Given the description of an element on the screen output the (x, y) to click on. 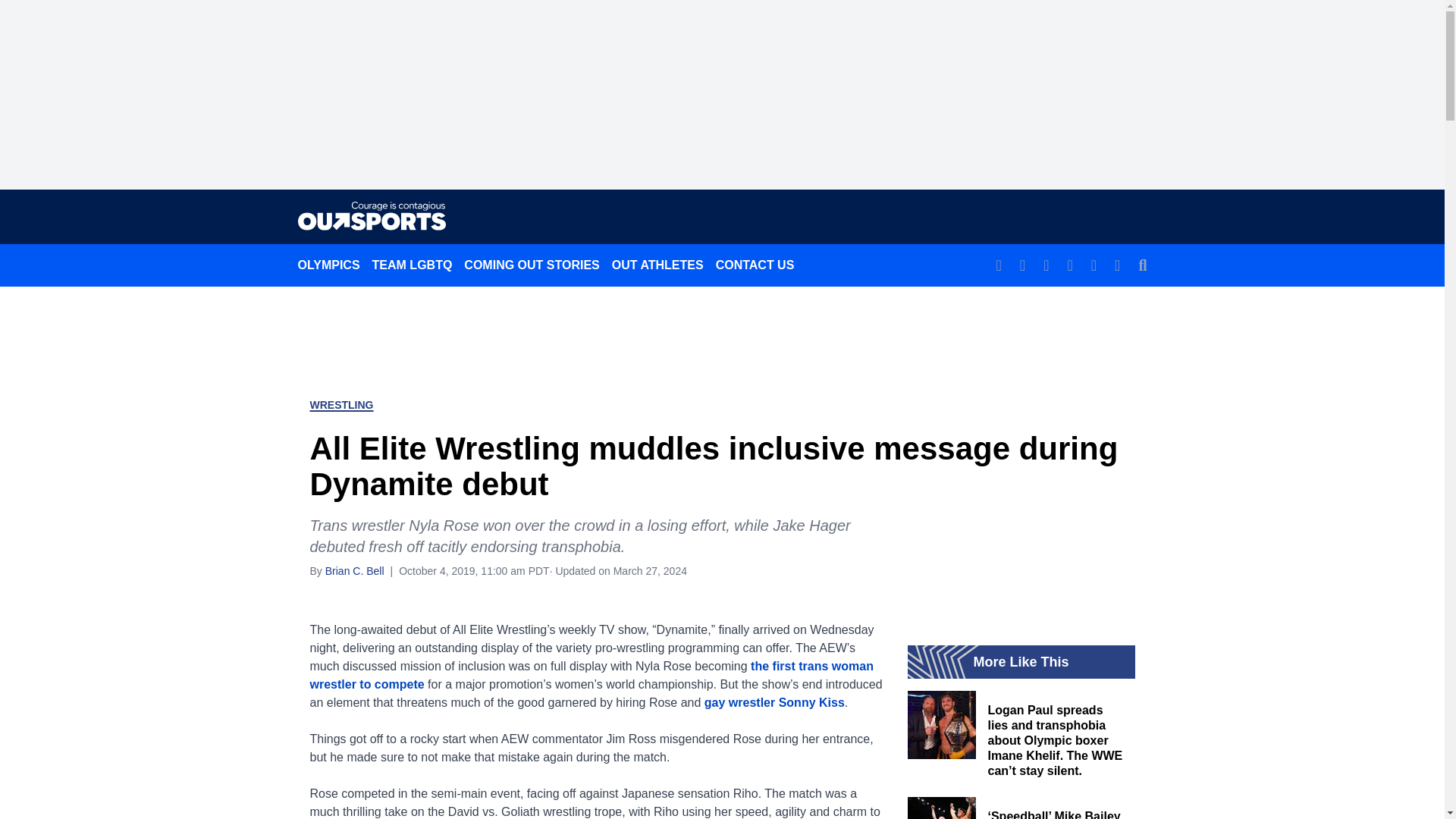
COMING OUT STORIES (531, 265)
the first trans woman wrestler to compete (590, 675)
OLYMPICS (328, 265)
Brian C. Bell (354, 570)
OUT ATHLETES (657, 265)
WRESTLING (340, 404)
TEAM LGBTQ (412, 265)
CONTACT US (755, 265)
gay wrestler Sonny Kiss (774, 702)
